Given the description of an element on the screen output the (x, y) to click on. 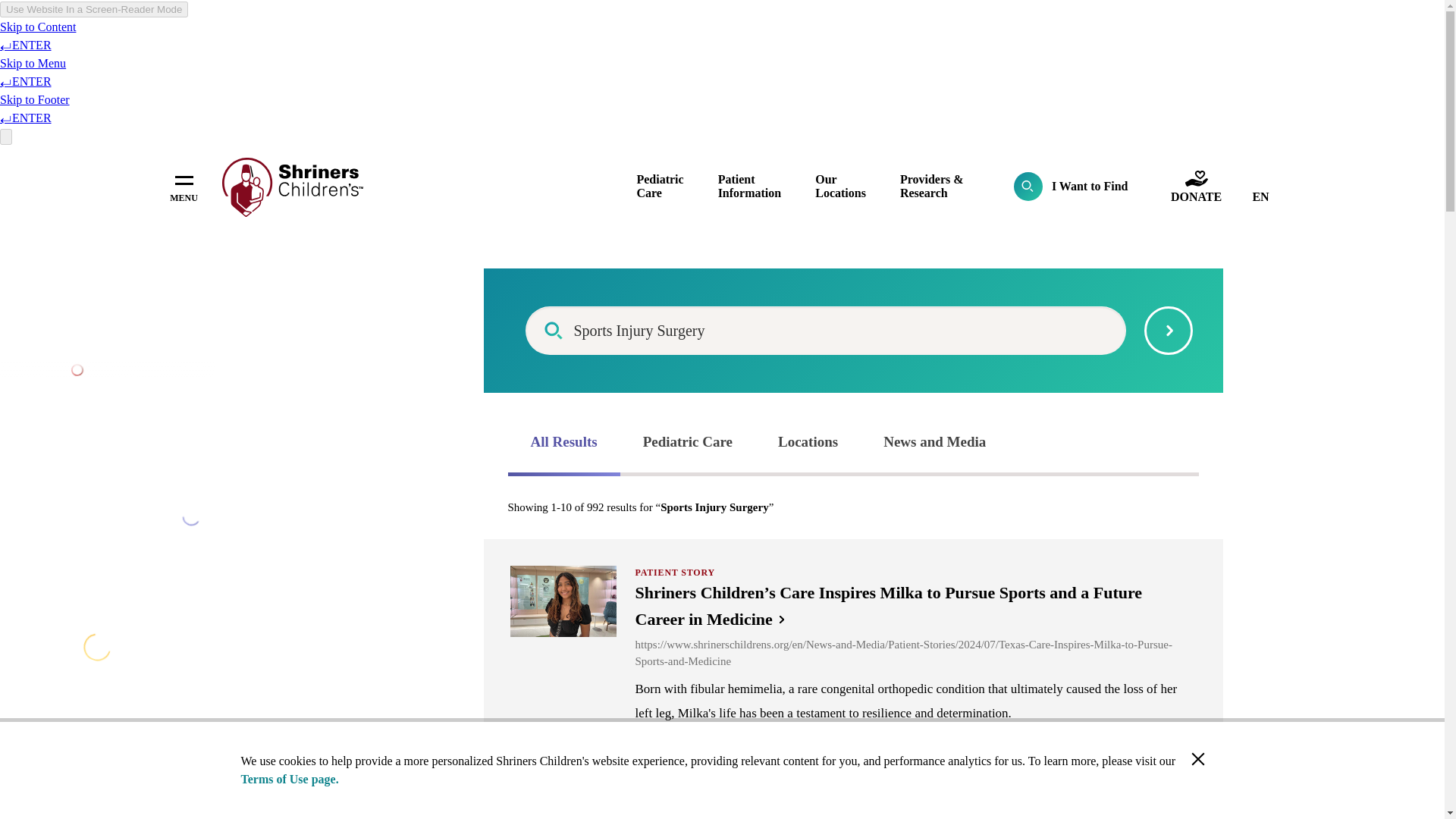
Patient Information (749, 185)
I Want to Find (1070, 186)
Sports Injury Surgery (824, 330)
MENU (183, 186)
Our Locations (840, 185)
Pediatric Care (659, 185)
EN (1259, 197)
Sports Injury Surgery (824, 330)
